Given the description of an element on the screen output the (x, y) to click on. 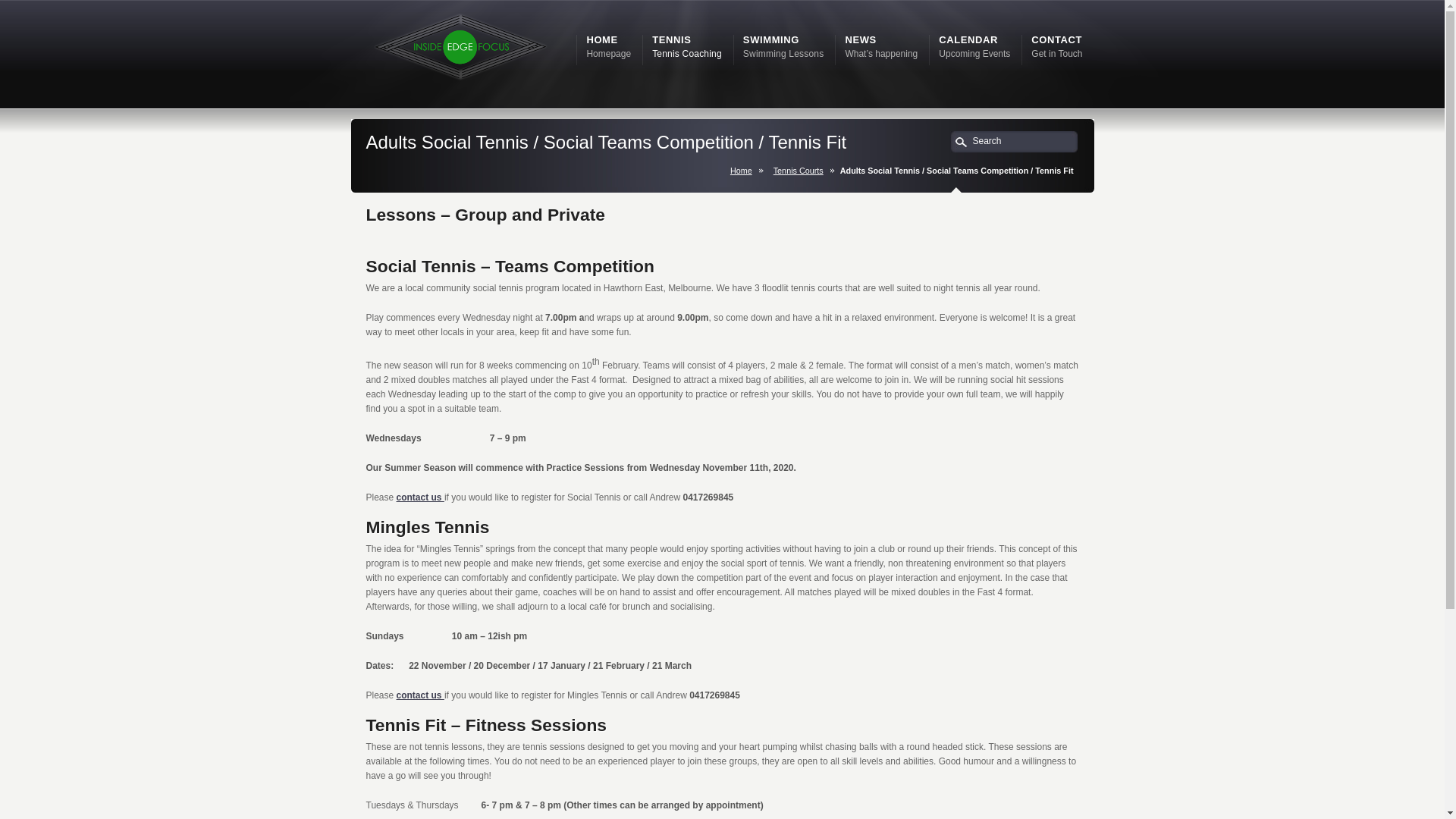
TENNIS
Tennis Coaching Element type: text (686, 46)
HOME
Homepage Element type: text (608, 46)
contact us Element type: text (420, 695)
CONTACT
Get in Touch Element type: text (1056, 46)
Tennis Courts Element type: text (801, 170)
Home Element type: text (743, 170)
contact us Element type: text (420, 497)
CALENDAR
Upcoming Events Element type: text (974, 46)
search Element type: text (960, 143)
SWIMMING
Swimming Lessons Element type: text (783, 46)
